Given the description of an element on the screen output the (x, y) to click on. 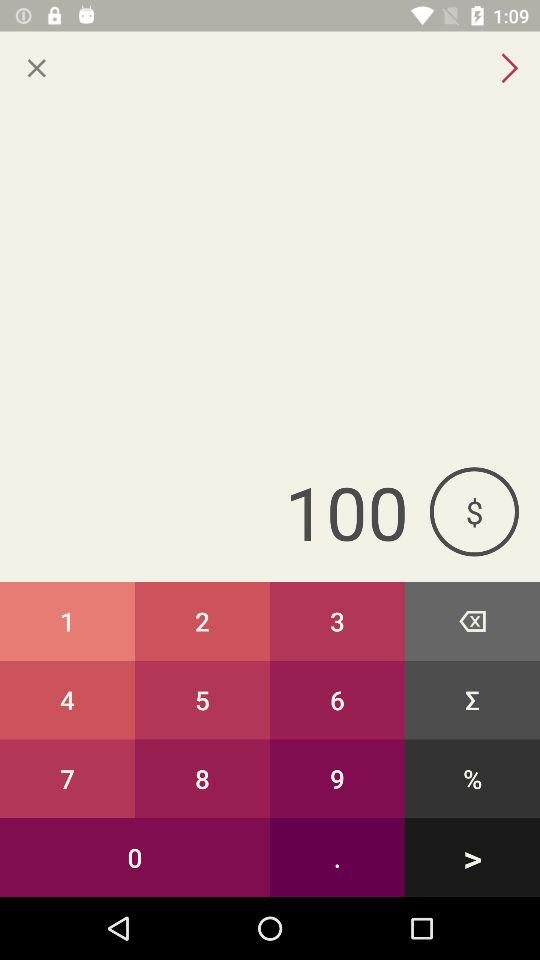
close calculator (36, 68)
